Given the description of an element on the screen output the (x, y) to click on. 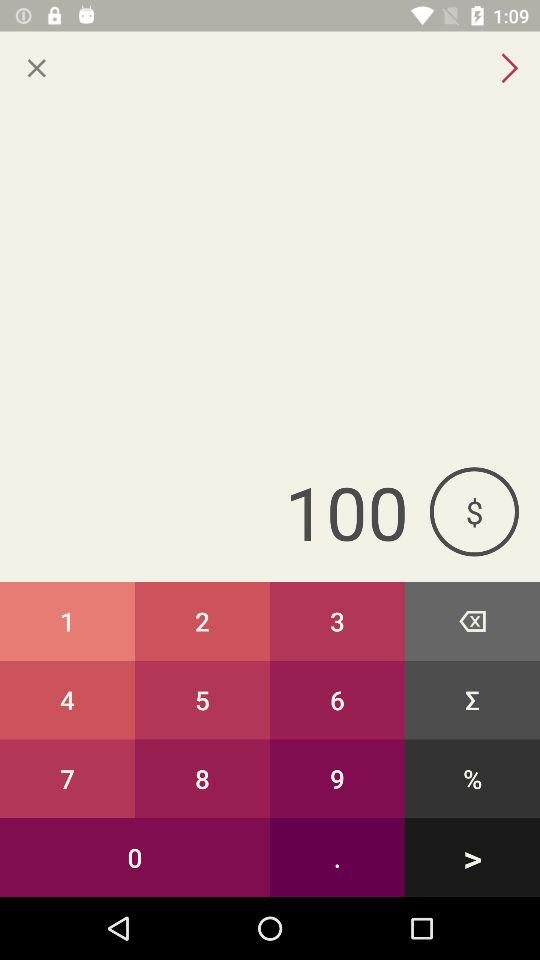
close calculator (36, 68)
